Given the description of an element on the screen output the (x, y) to click on. 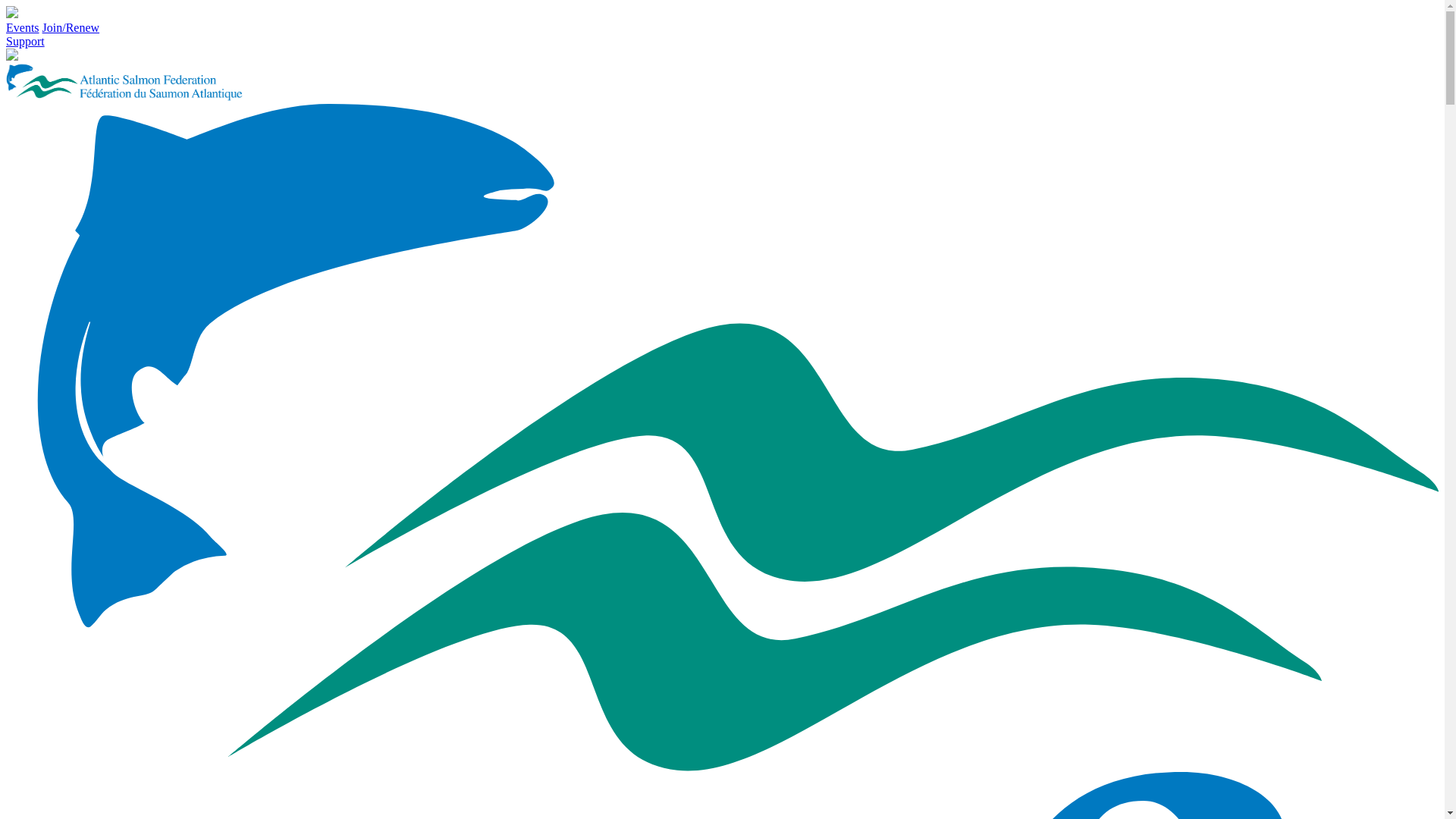
Support Element type: text (25, 40)
Join/Renew Element type: text (71, 27)
Events Element type: text (22, 27)
